Given the description of an element on the screen output the (x, y) to click on. 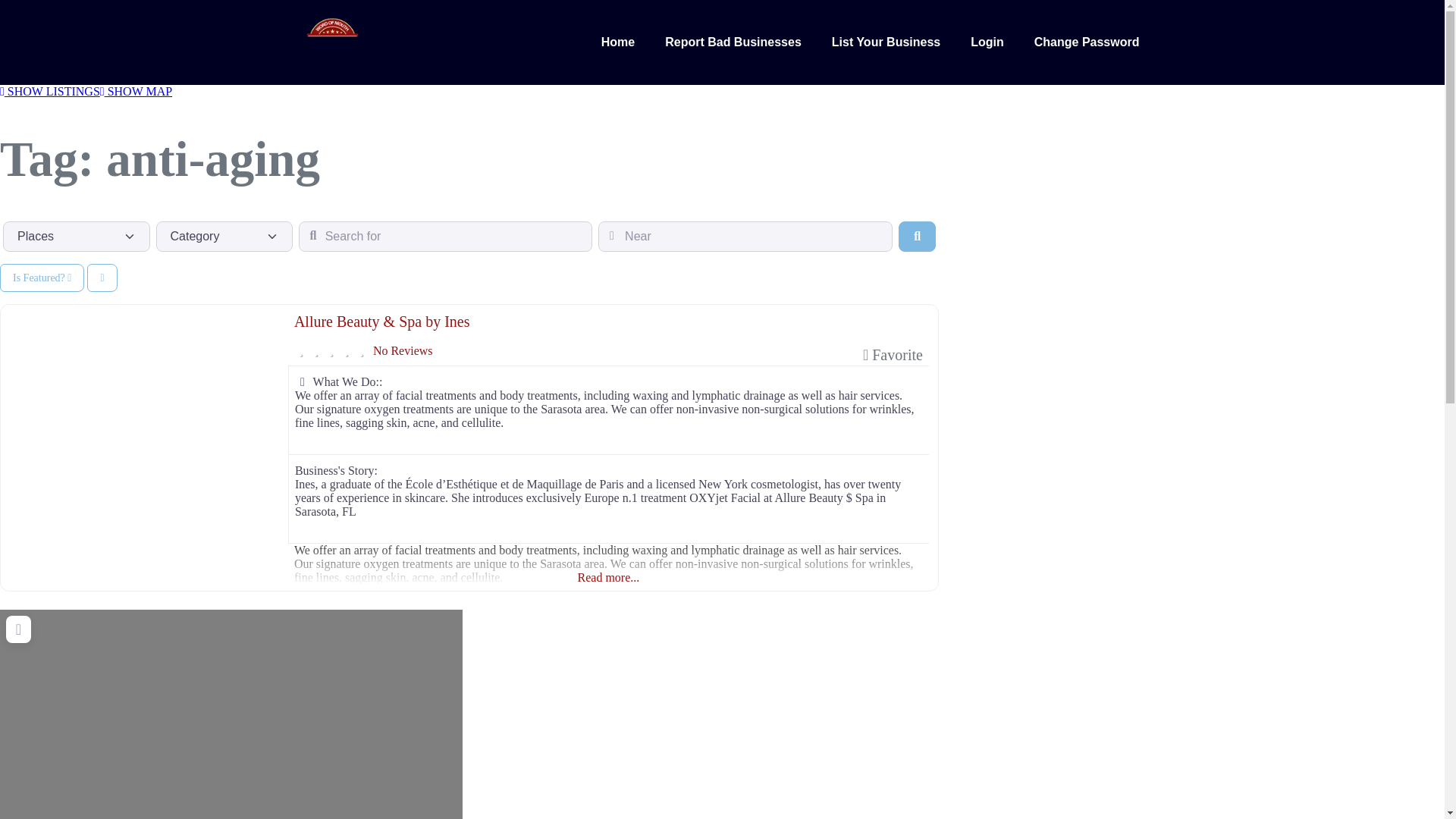
SHOW LISTINGS (50, 91)
Report Bad Businesses (732, 42)
Add to Favorites (893, 354)
List Your Business (885, 42)
Login (987, 42)
Read more... (608, 559)
Change Password (1086, 42)
Home (617, 42)
Search (917, 236)
SHOW MAP (135, 91)
